Given the description of an element on the screen output the (x, y) to click on. 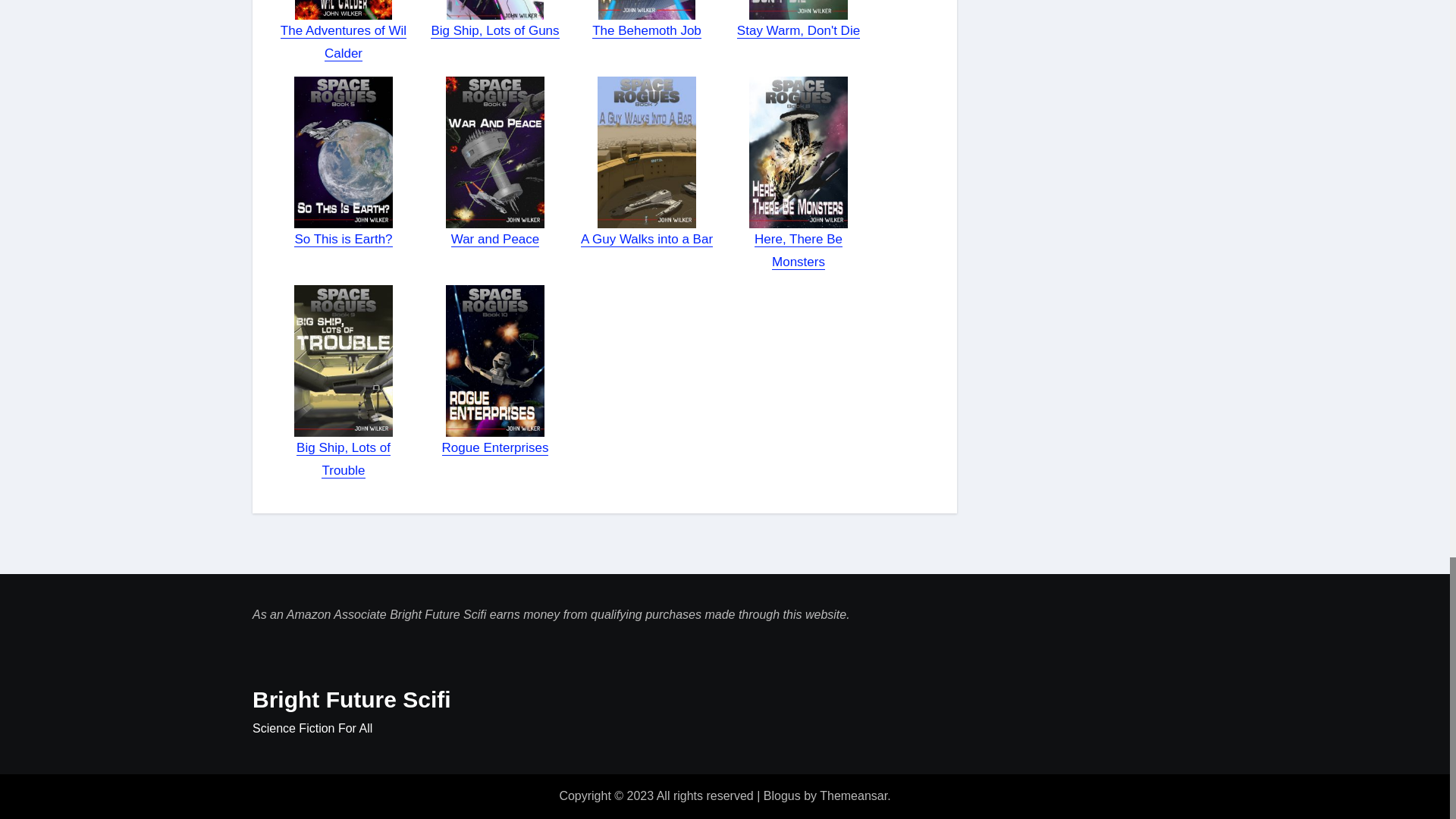
Big Ship, Lots of Guns (494, 30)
Stay Warm, Don't Die (798, 30)
The Adventures of Wil Calder (343, 41)
So This is Earth? (342, 238)
War and Peace (495, 238)
The Behemoth Job (646, 30)
